Given the description of an element on the screen output the (x, y) to click on. 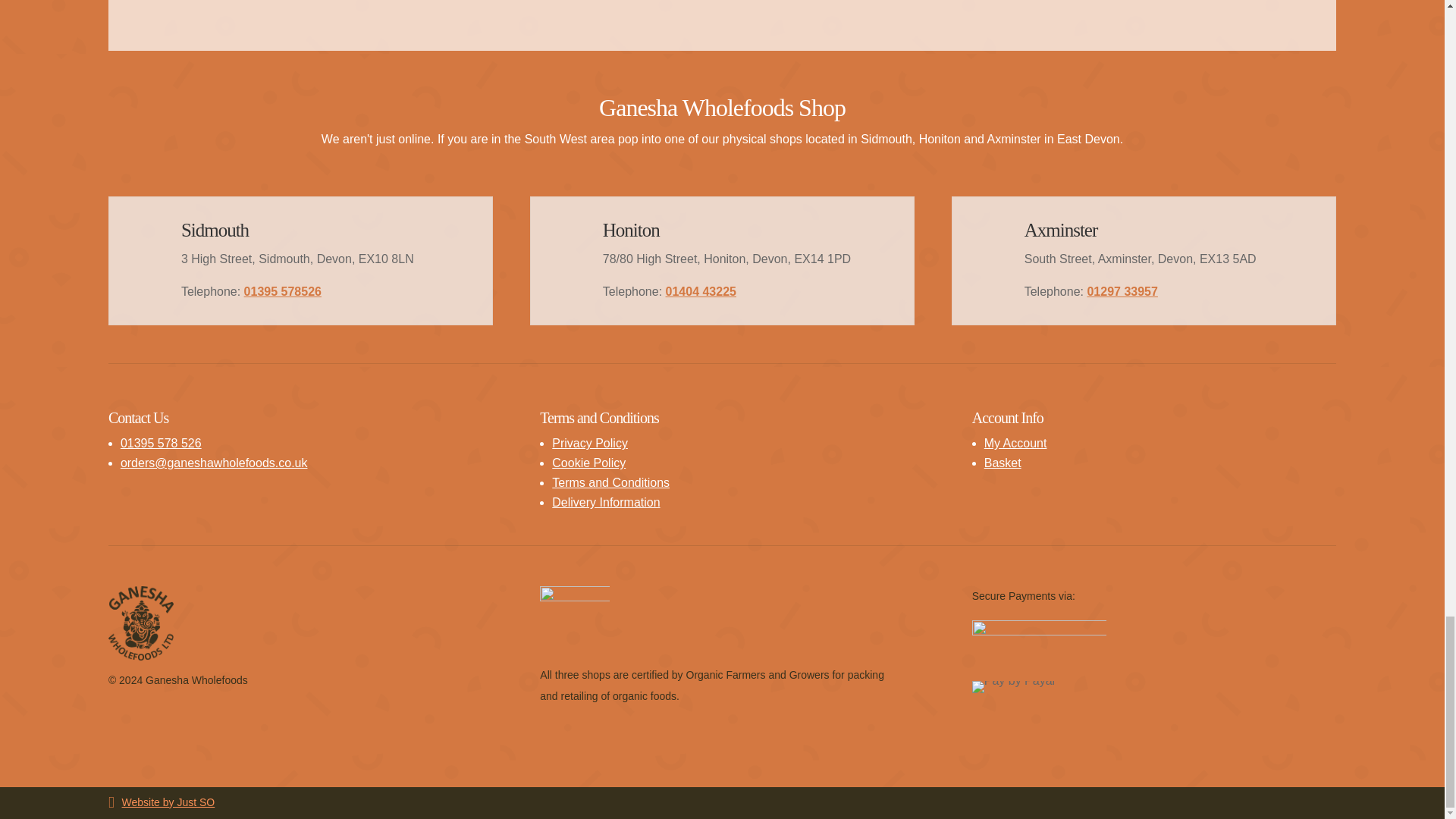
Pay by Payal (1013, 686)
payment-methods (1039, 633)
organic-farmers-growers-logo-250 (574, 620)
